Given the description of an element on the screen output the (x, y) to click on. 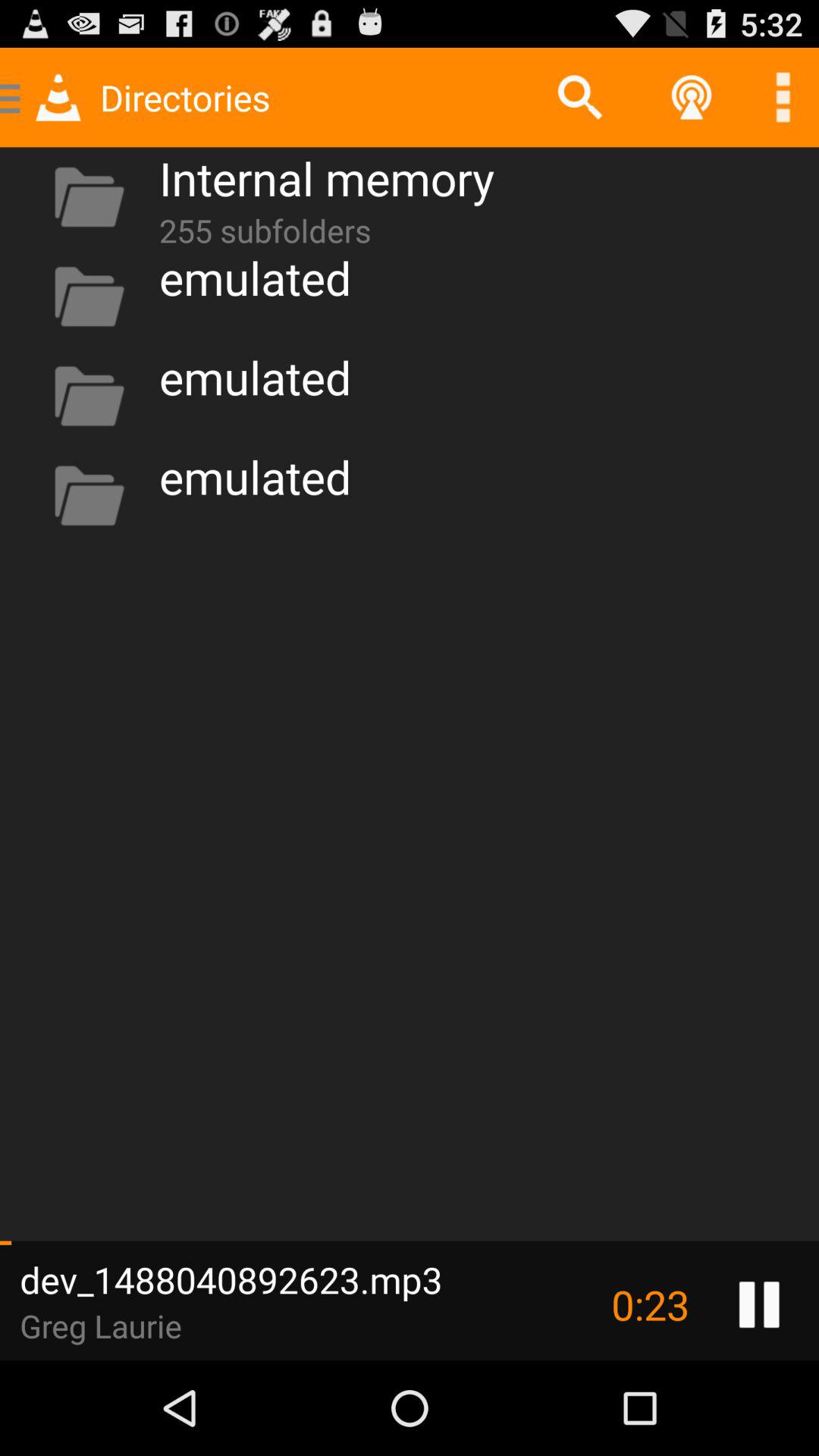
see more options (783, 97)
